Given the description of an element on the screen output the (x, y) to click on. 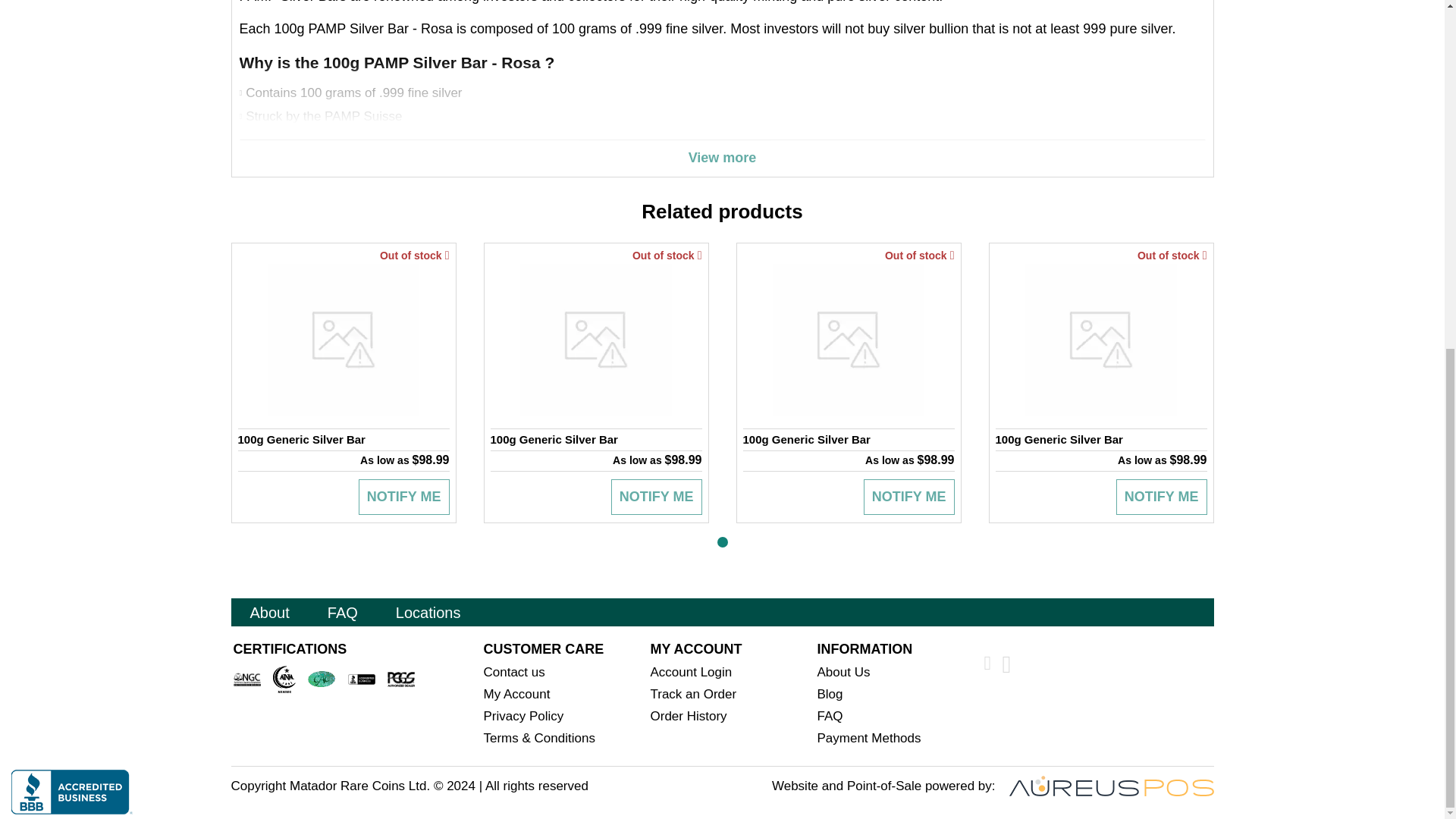
100g Generic Silver Bar (343, 439)
100g Generic Silver Bar (1100, 439)
100g Generic Silver Bar (595, 439)
100g Generic Silver Bar (848, 439)
